Given the description of an element on the screen output the (x, y) to click on. 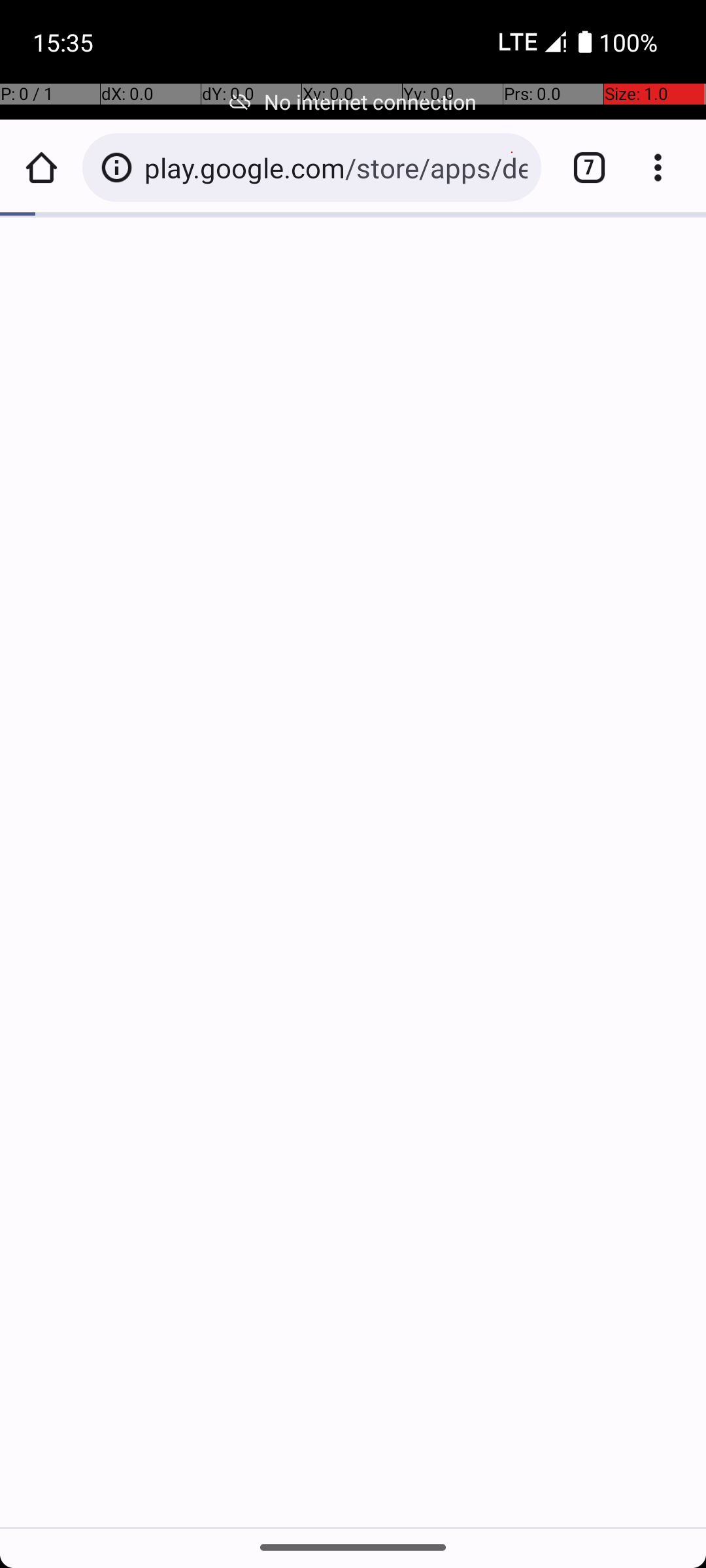
play.google.com/store/apps/details?id=com.android.chrome Element type: android.widget.EditText (335, 167)
